Given the description of an element on the screen output the (x, y) to click on. 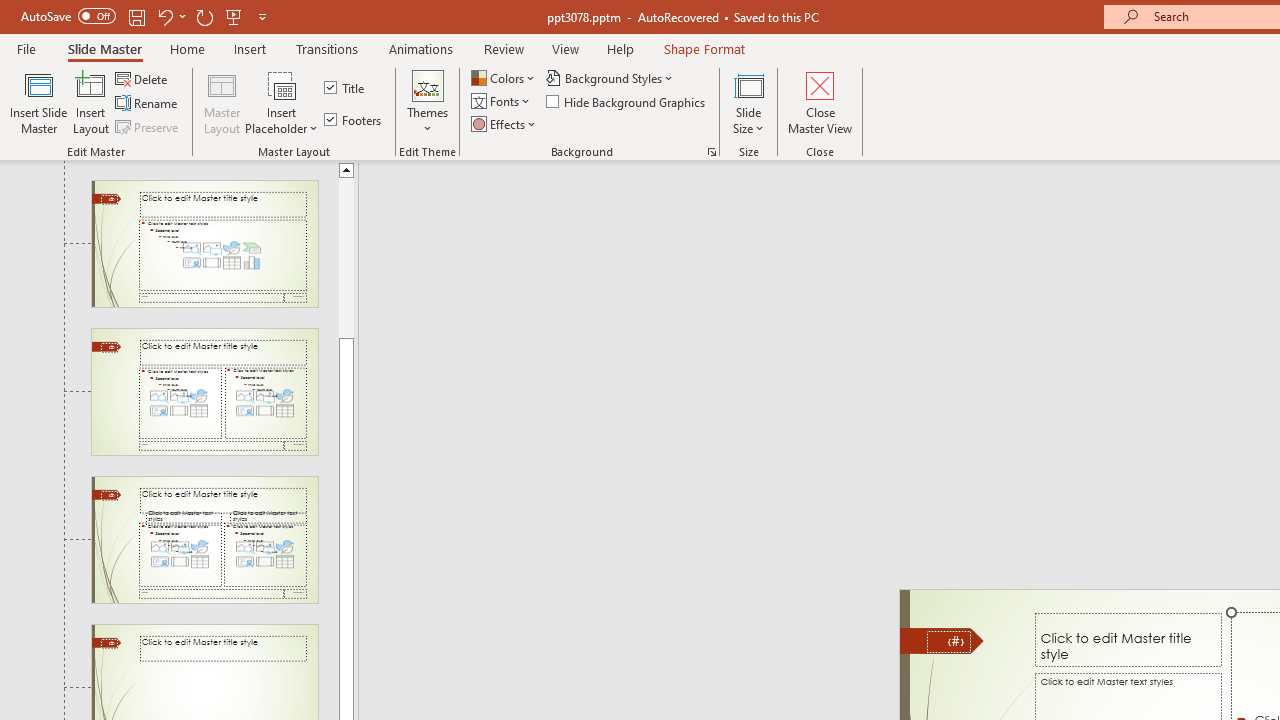
Delete (143, 78)
Background Styles (610, 78)
Format Background... (711, 151)
Insert Layout (91, 102)
Content (282, 84)
Title (346, 87)
Slide Two Content Layout: used by no slides (204, 392)
Insert Slide Master (38, 102)
Slide Number (948, 641)
Freeform 11 (941, 640)
